Given the description of an element on the screen output the (x, y) to click on. 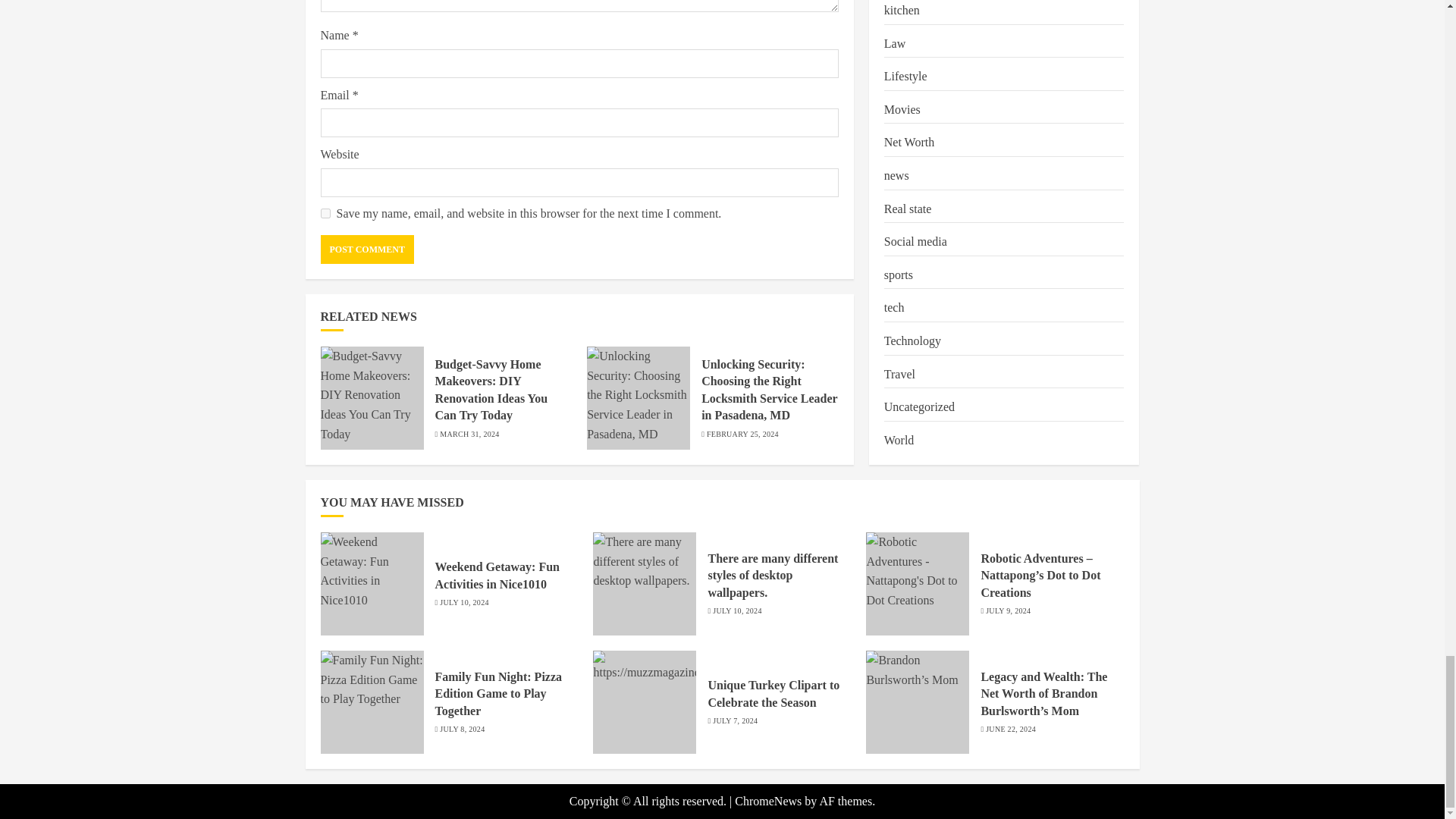
Post Comment (366, 249)
MARCH 31, 2024 (469, 434)
Post Comment (366, 249)
yes (325, 213)
